Given the description of an element on the screen output the (x, y) to click on. 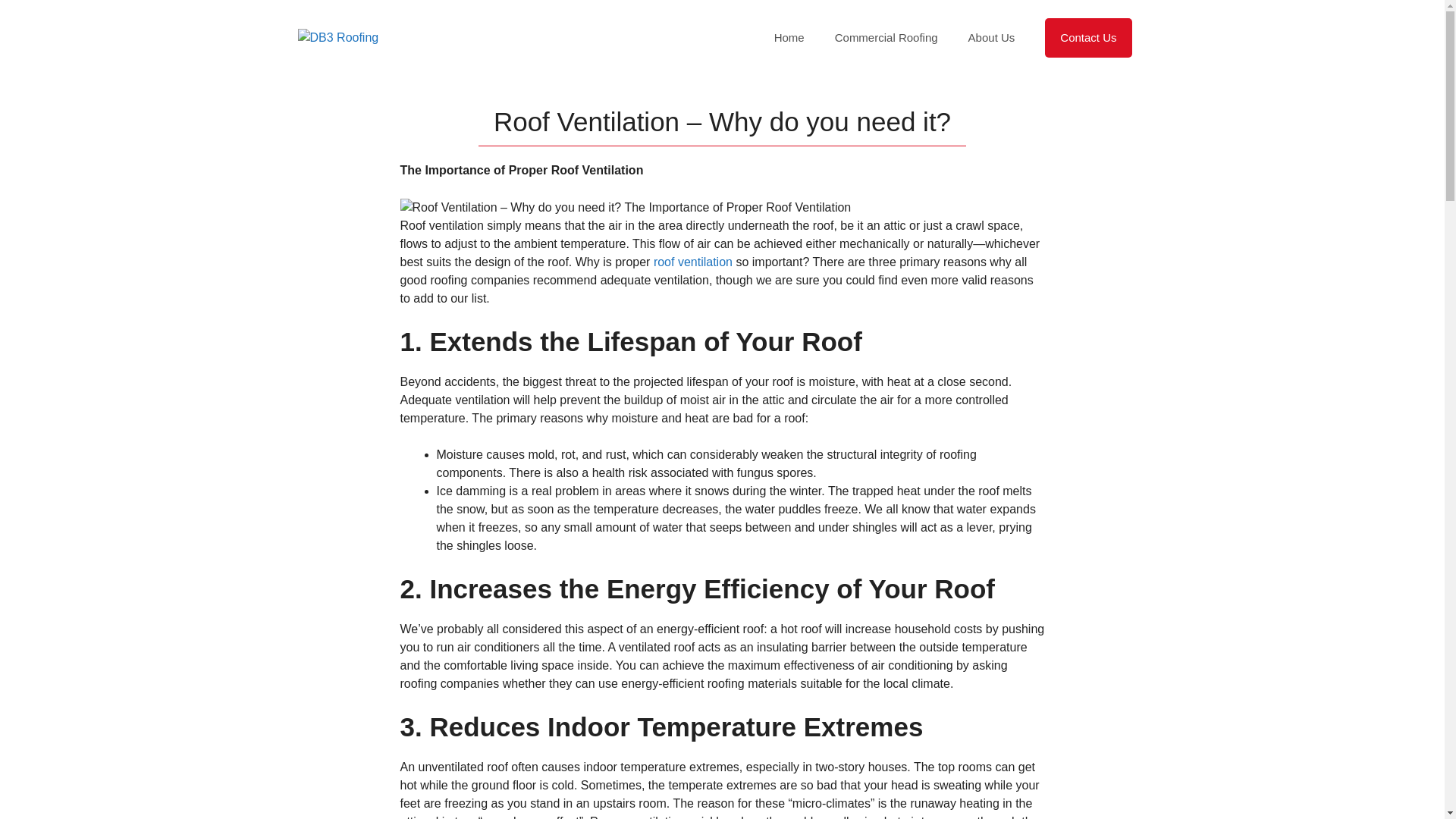
roof ventilation (692, 261)
Contact Us (1088, 38)
DB3RoofingHome-823328086 (625, 208)
Home (788, 37)
Commercial Roofing (886, 37)
About Us (991, 37)
